Given the description of an element on the screen output the (x, y) to click on. 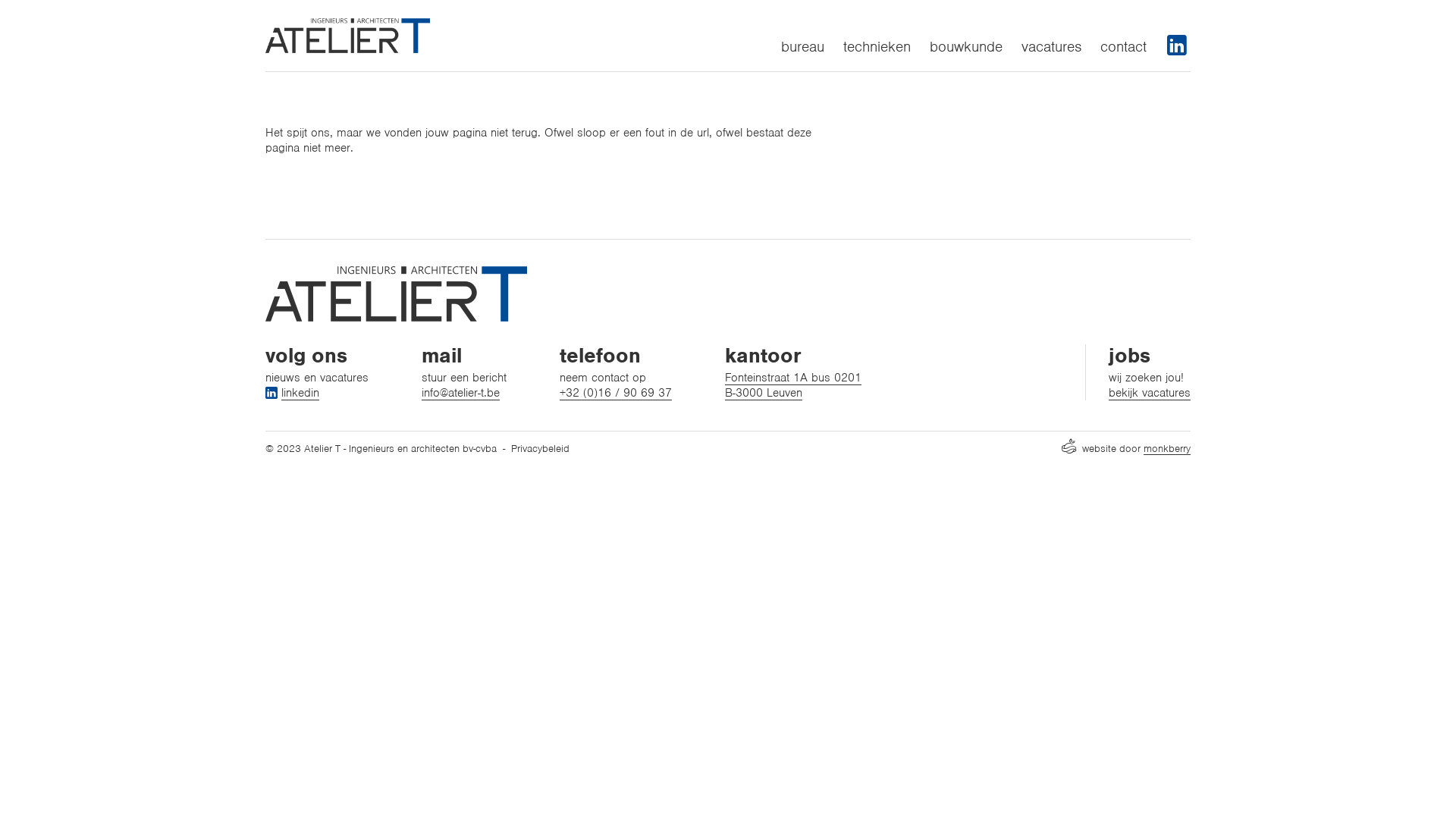
L Element type: text (1176, 45)
technieken Element type: text (876, 46)
bureau Element type: text (802, 46)
bouwkunde Element type: text (965, 46)
atelier t Element type: text (347, 35)
Overslaan en naar de inhoud gaan Element type: text (0, 0)
info@atelier-t.be Element type: text (460, 392)
L linkedin Element type: text (292, 392)
website door monkberry Element type: text (1125, 448)
vacatures Element type: text (1051, 46)
+32 (0)16 / 90 69 37 Element type: text (615, 392)
contact Element type: text (1123, 46)
bekijk vacatures Element type: text (1149, 392)
atelier t Element type: text (396, 293)
Fonteinstraat 1A bus 0201
B-3000 Leuven Element type: text (792, 385)
Privacybeleid Element type: text (540, 448)
